Given the description of an element on the screen output the (x, y) to click on. 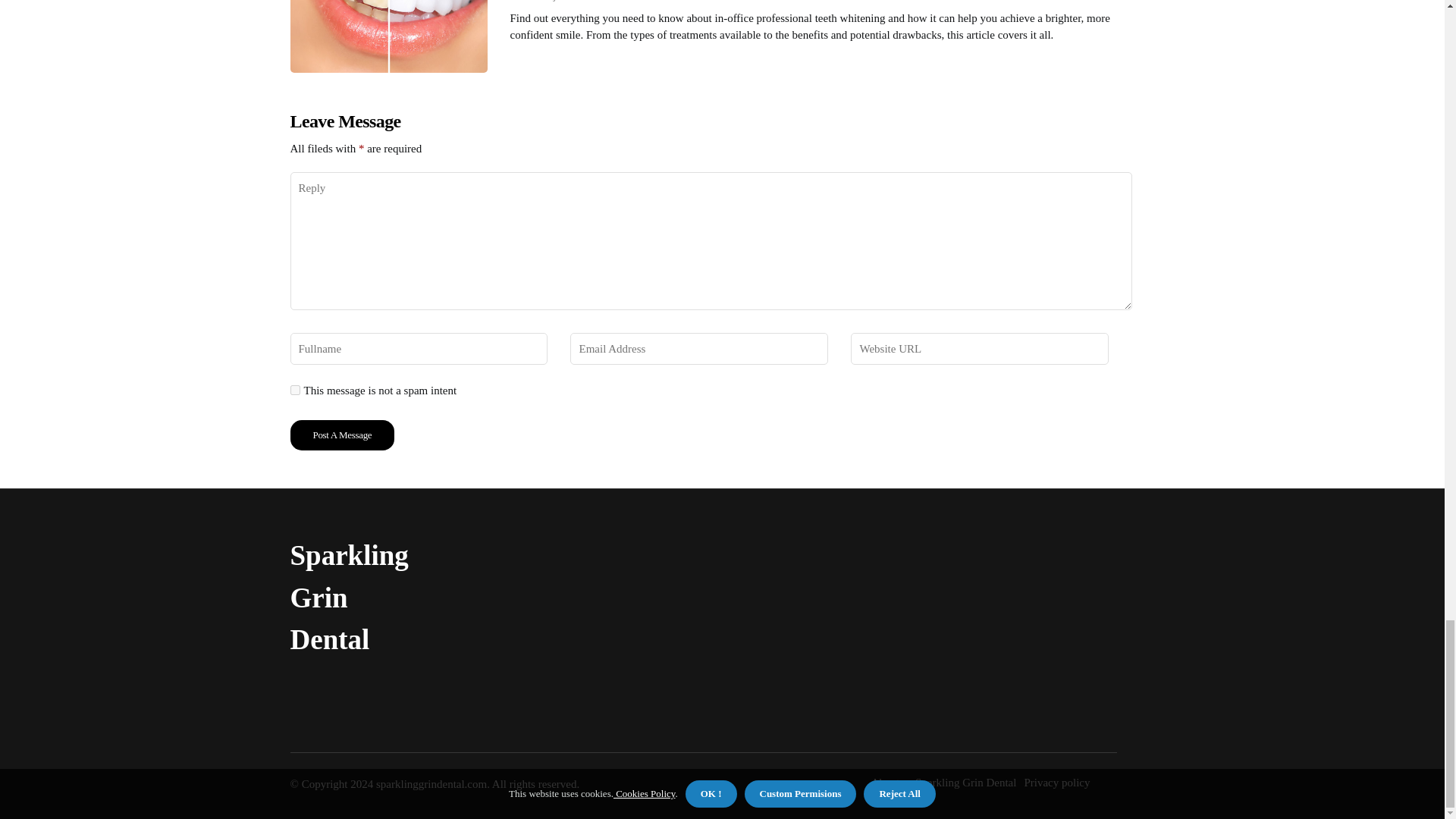
Posts by Marcie Dajer (539, 0)
Post a Message (341, 435)
yes (294, 389)
